Given the description of an element on the screen output the (x, y) to click on. 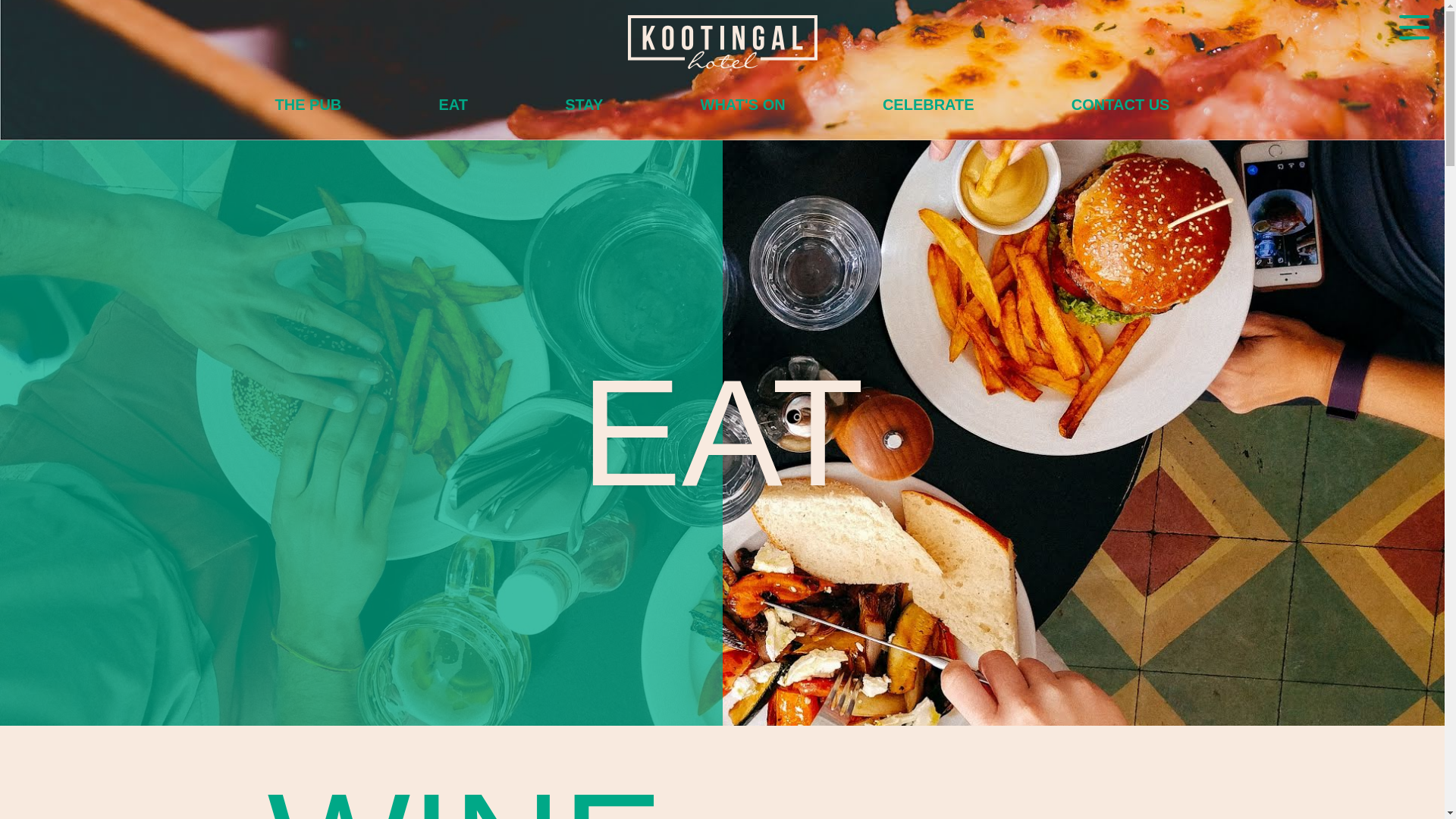
Menu Element type: hover (1414, 30)
CONTACT US Element type: text (1120, 104)
EAT Element type: text (453, 104)
WHAT'S ON Element type: text (743, 104)
THE PUB Element type: text (307, 104)
STAY Element type: text (583, 104)
CELEBRATE Element type: text (928, 104)
